Given the description of an element on the screen output the (x, y) to click on. 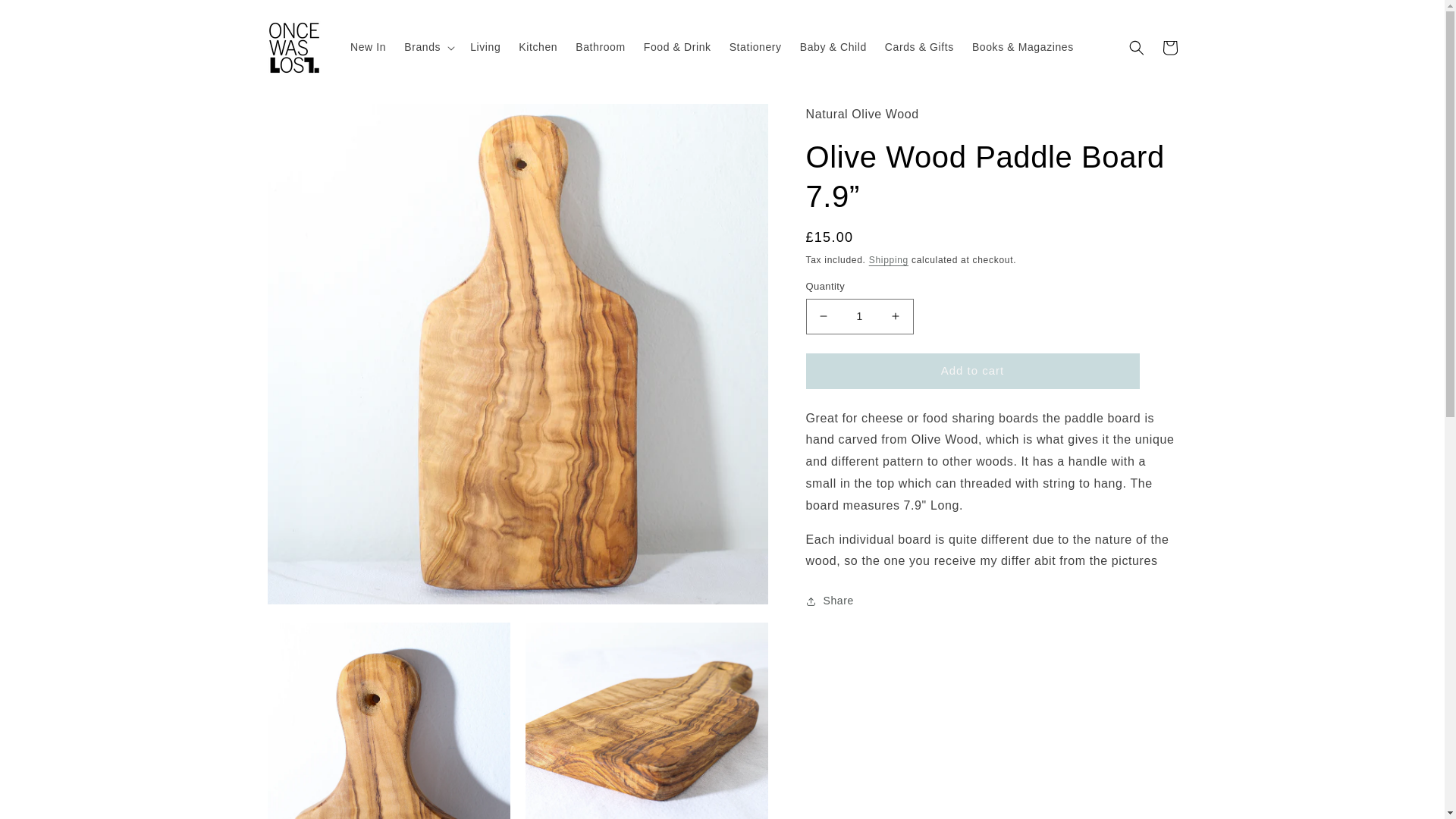
Cart (1169, 46)
Living (485, 47)
New In (367, 47)
Kitchen (537, 47)
Skip to content (45, 17)
Stationery (755, 47)
Bathroom (600, 47)
1 (858, 316)
